Given the description of an element on the screen output the (x, y) to click on. 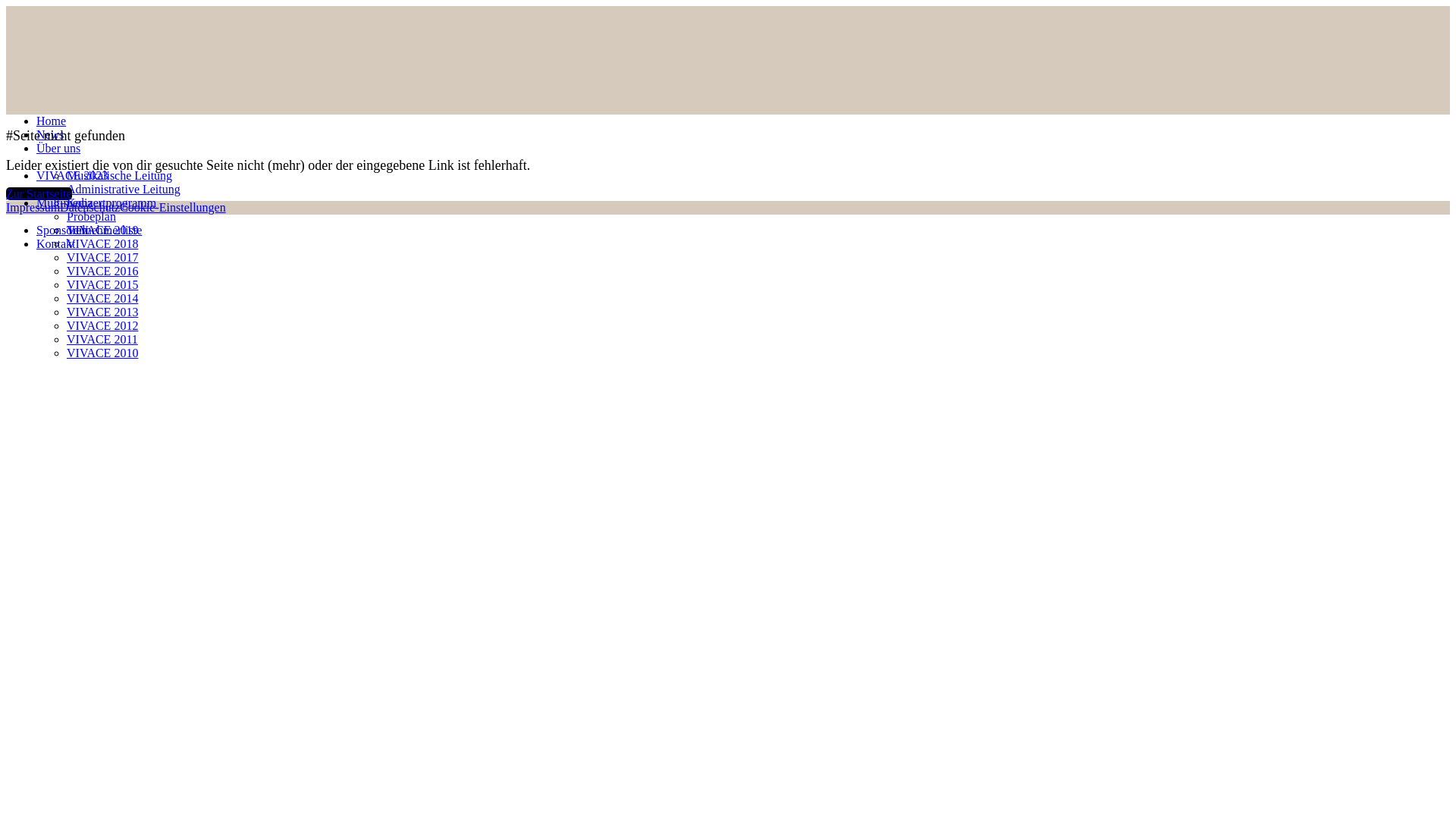
VIVACE 2019 Element type: text (102, 229)
VIVACE 2018 Element type: text (102, 243)
Cookie-Einstellungen Element type: text (172, 206)
News Element type: text (49, 134)
Multimedia Element type: text (64, 202)
Kontakt Element type: text (55, 243)
Zur Startseite Element type: text (39, 193)
VIVACE 2014 Element type: text (102, 297)
Administrative Leitung Element type: text (123, 188)
VIVACE 2016 Element type: text (102, 270)
Probeplan Element type: text (91, 216)
VIVACE 2023 Element type: text (71, 175)
VIVACE 2017 Element type: text (102, 257)
VIVACE 2012 Element type: text (102, 325)
VIVACE 2013 Element type: text (102, 311)
Konzertprogramm Element type: text (111, 202)
VIVACE 2011 Element type: text (102, 338)
Teilnehmerliste Element type: text (103, 229)
VIVACE 2015 Element type: text (102, 284)
Datenschutz Element type: text (89, 206)
Sponsoren Element type: text (61, 229)
Impressum Element type: text (32, 206)
Musikalische Leitung Element type: text (119, 175)
Home Element type: text (50, 120)
VIVACE 2010 Element type: text (102, 352)
